Given the description of an element on the screen output the (x, y) to click on. 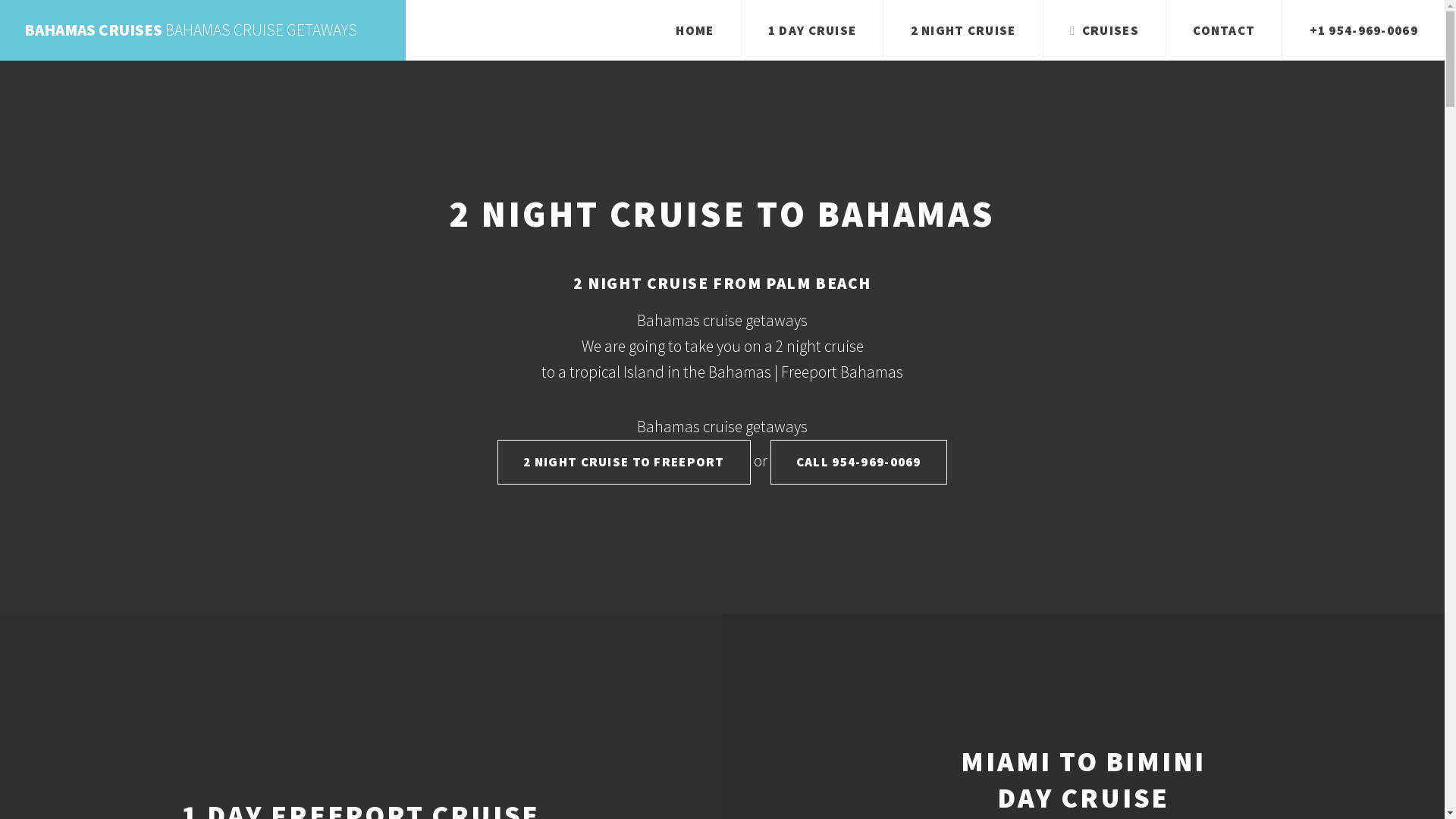
HOME Element type: text (694, 30)
MIAMI TO BIMINI
DAY CRUISE Element type: text (1082, 779)
CRUISES Element type: text (1104, 30)
+1 954-969-0069 Element type: text (1363, 30)
CALL 954-969-0069 Element type: text (858, 461)
1 DAY CRUISE Element type: text (812, 30)
CONTACT Element type: text (1223, 30)
2 NIGHT CRUISE TO BAHAMAS Element type: text (721, 213)
BAHAMAS CRUISES BAHAMAS CRUISE GETAWAYS Element type: text (202, 30)
2 NIGHT CRUISE Element type: text (962, 30)
2 NIGHT CRUISE TO FREEPORT Element type: text (623, 461)
